Given the description of an element on the screen output the (x, y) to click on. 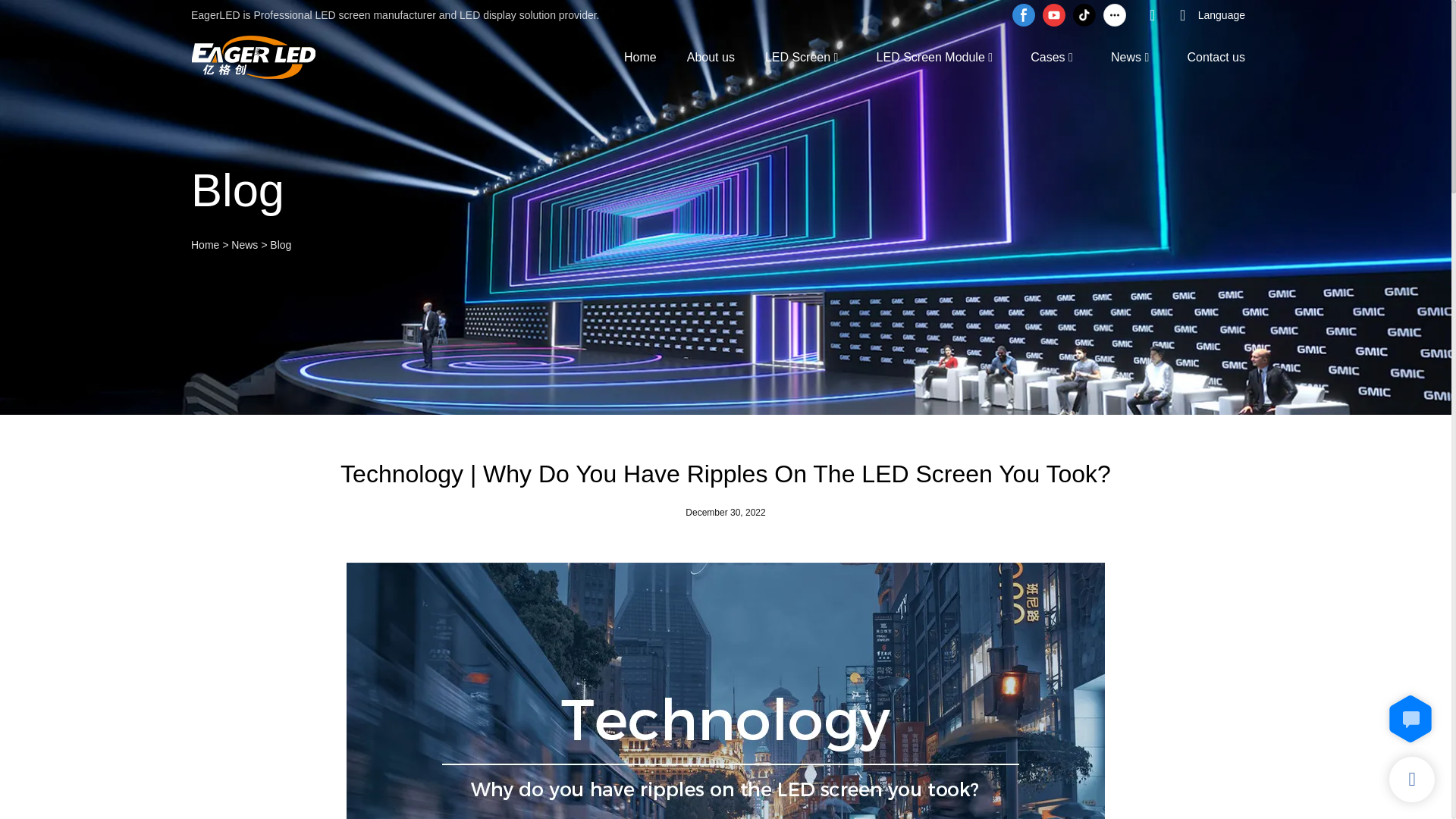
youtube (1053, 15)
Contact us (1216, 56)
Cases (1047, 56)
Home (640, 56)
News (244, 244)
News (1125, 56)
LED Screen Module (930, 56)
Home (204, 244)
LED Screen (797, 56)
Blog (280, 244)
About us (711, 56)
facebook (1024, 15)
tiktok (1083, 15)
